Given the description of an element on the screen output the (x, y) to click on. 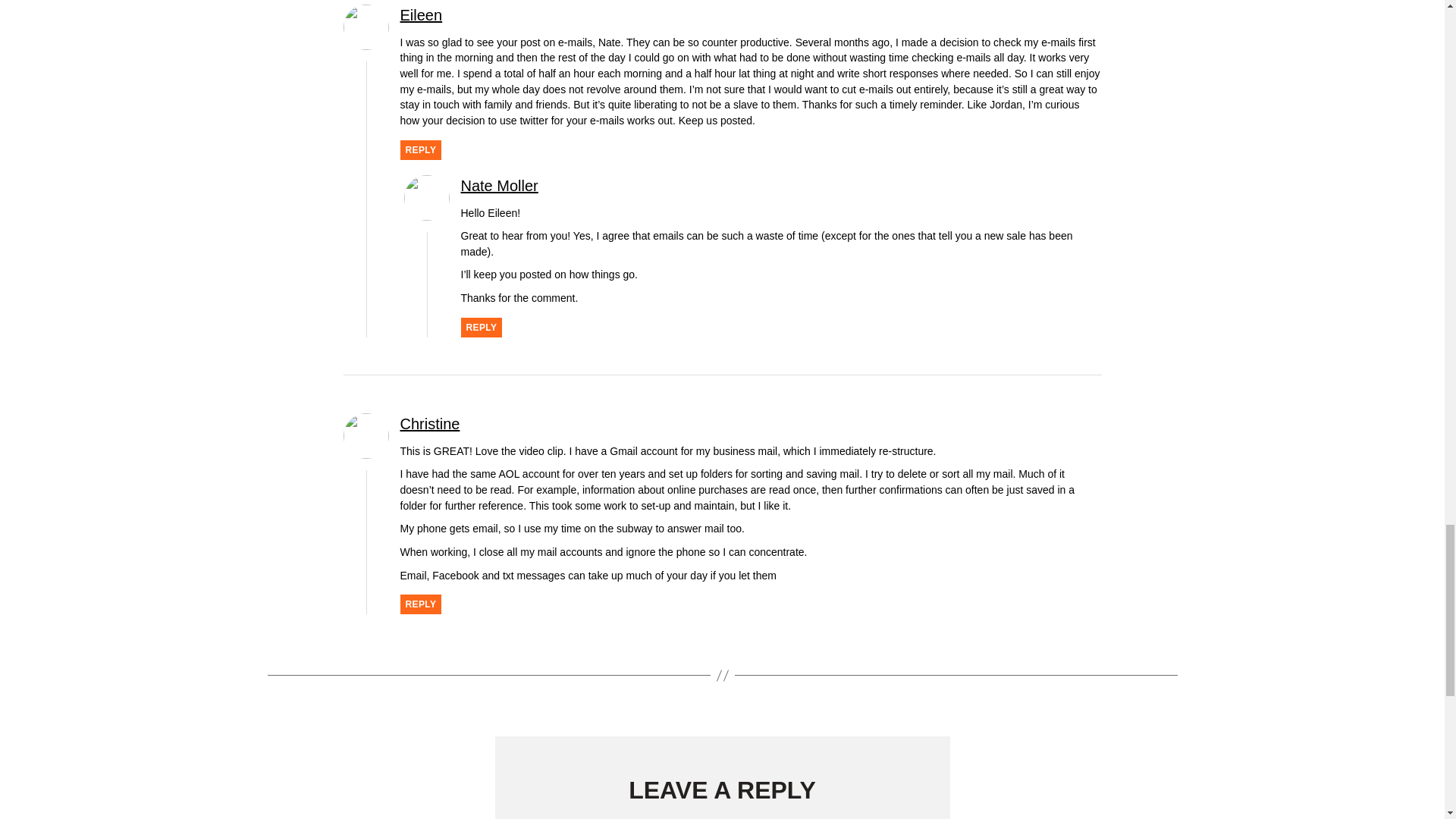
REPLY (499, 185)
REPLY (430, 423)
REPLY (421, 14)
REPLY (481, 327)
REPLY (421, 148)
